Given the description of an element on the screen output the (x, y) to click on. 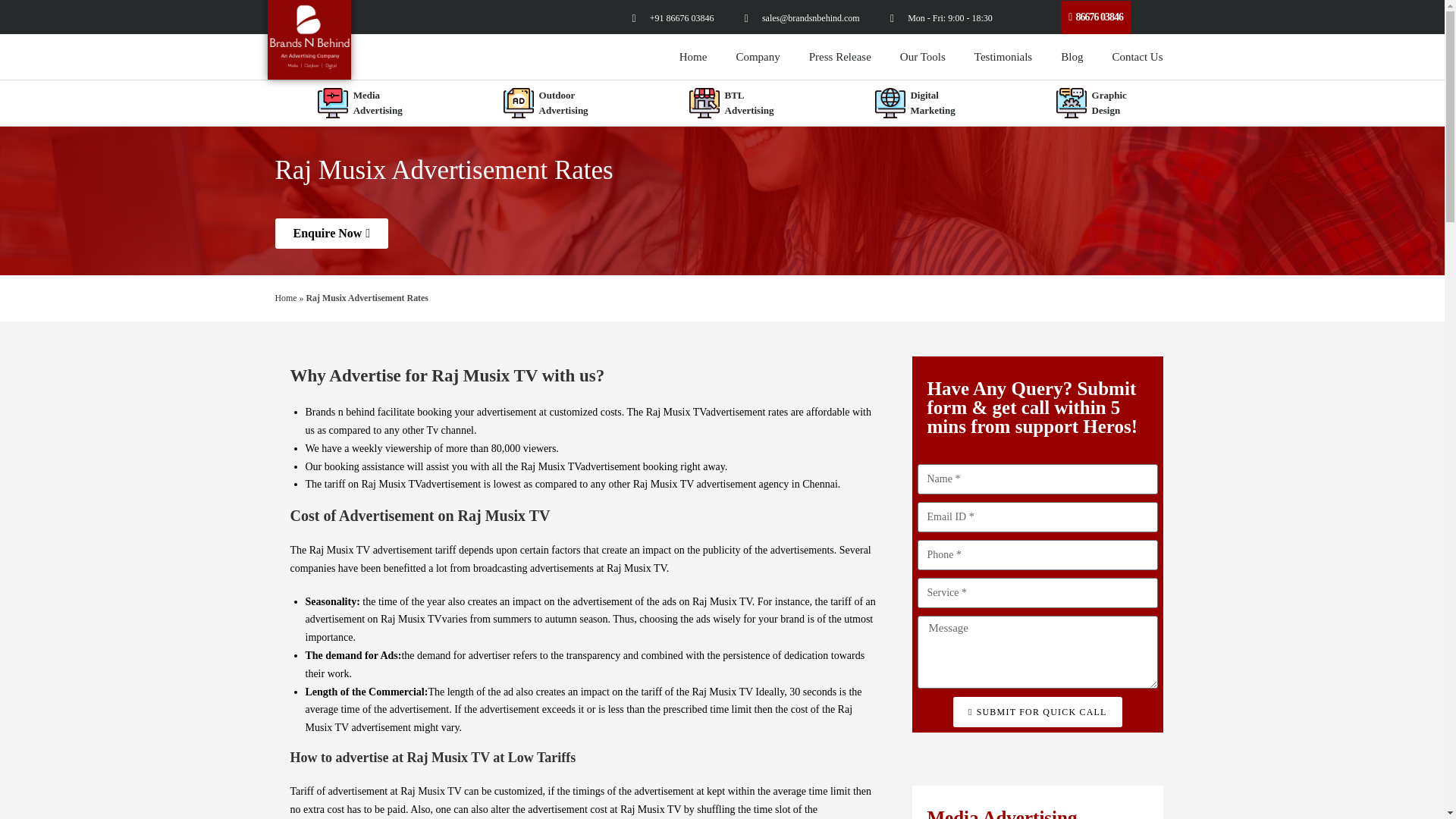
86676 03846 (1096, 16)
Press Release (839, 56)
Blog (1071, 56)
Contact Us (1136, 56)
Home (359, 103)
Testimonials (693, 56)
Our Tools (1002, 56)
Company (922, 56)
